Given the description of an element on the screen output the (x, y) to click on. 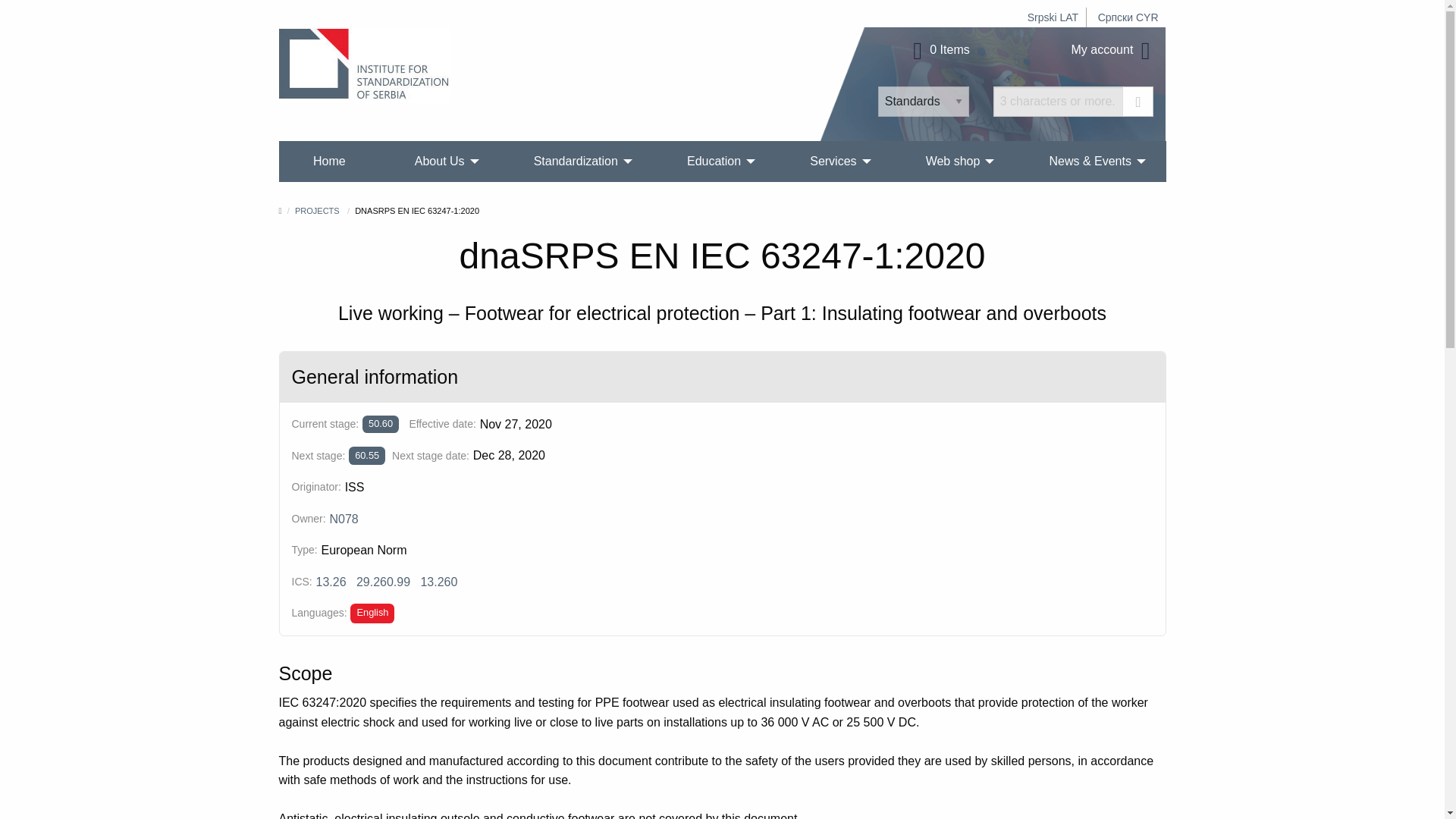
Shopping cart (938, 49)
Home (329, 160)
My account (1112, 49)
Srpski LAT (1052, 17)
Close of voting. Proof returned by secretariat (380, 424)
My account (1112, 49)
About Us (439, 160)
0 Items (938, 49)
Search (1138, 101)
